Given the description of an element on the screen output the (x, y) to click on. 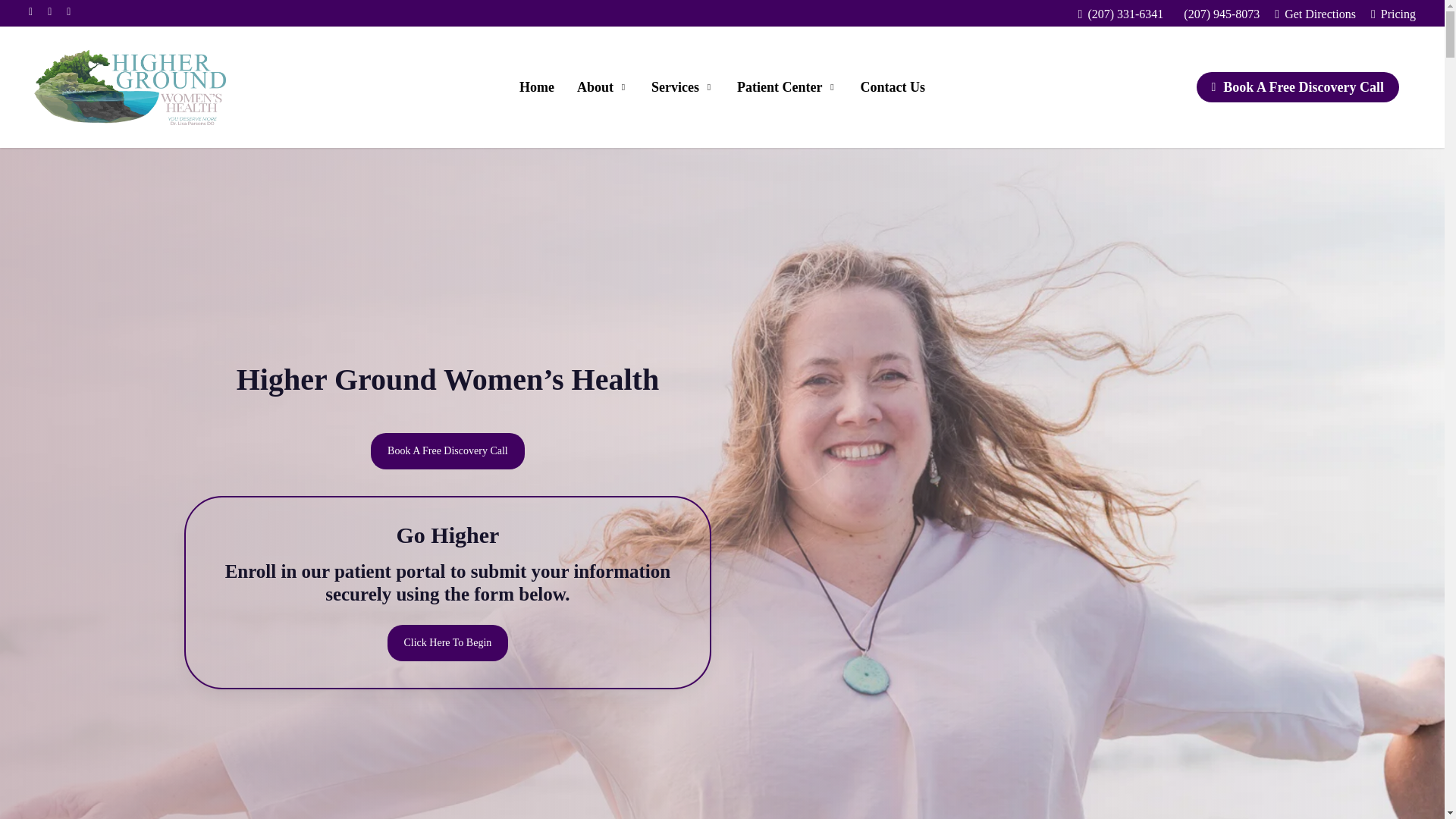
Patient Center (786, 87)
Pricing (1392, 14)
Contact Us (892, 87)
About (603, 87)
Services (682, 87)
Home (537, 87)
Book A Free Discovery Call (1297, 87)
Get Directions (1314, 14)
